Given the description of an element on the screen output the (x, y) to click on. 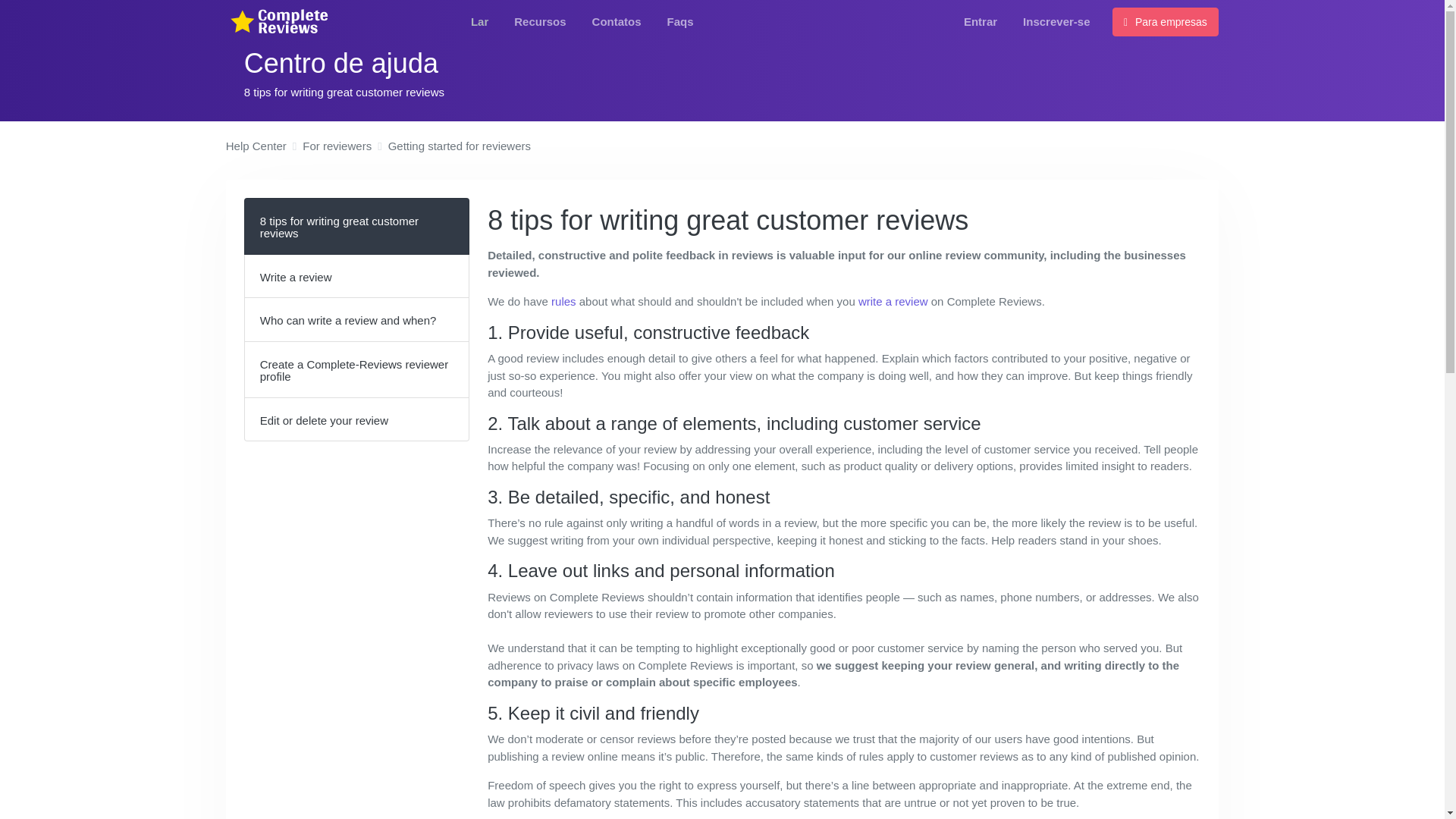
Faqs (680, 21)
Who can write a review and when? (356, 320)
8 tips for writing great customer reviews (356, 226)
Entrar (980, 21)
Inscrever-se (1055, 21)
write a review (893, 300)
Recursos (539, 21)
Getting started for reviewers (459, 146)
Create a Complete-Reviews reviewer profile (356, 370)
Lar (479, 21)
